Given the description of an element on the screen output the (x, y) to click on. 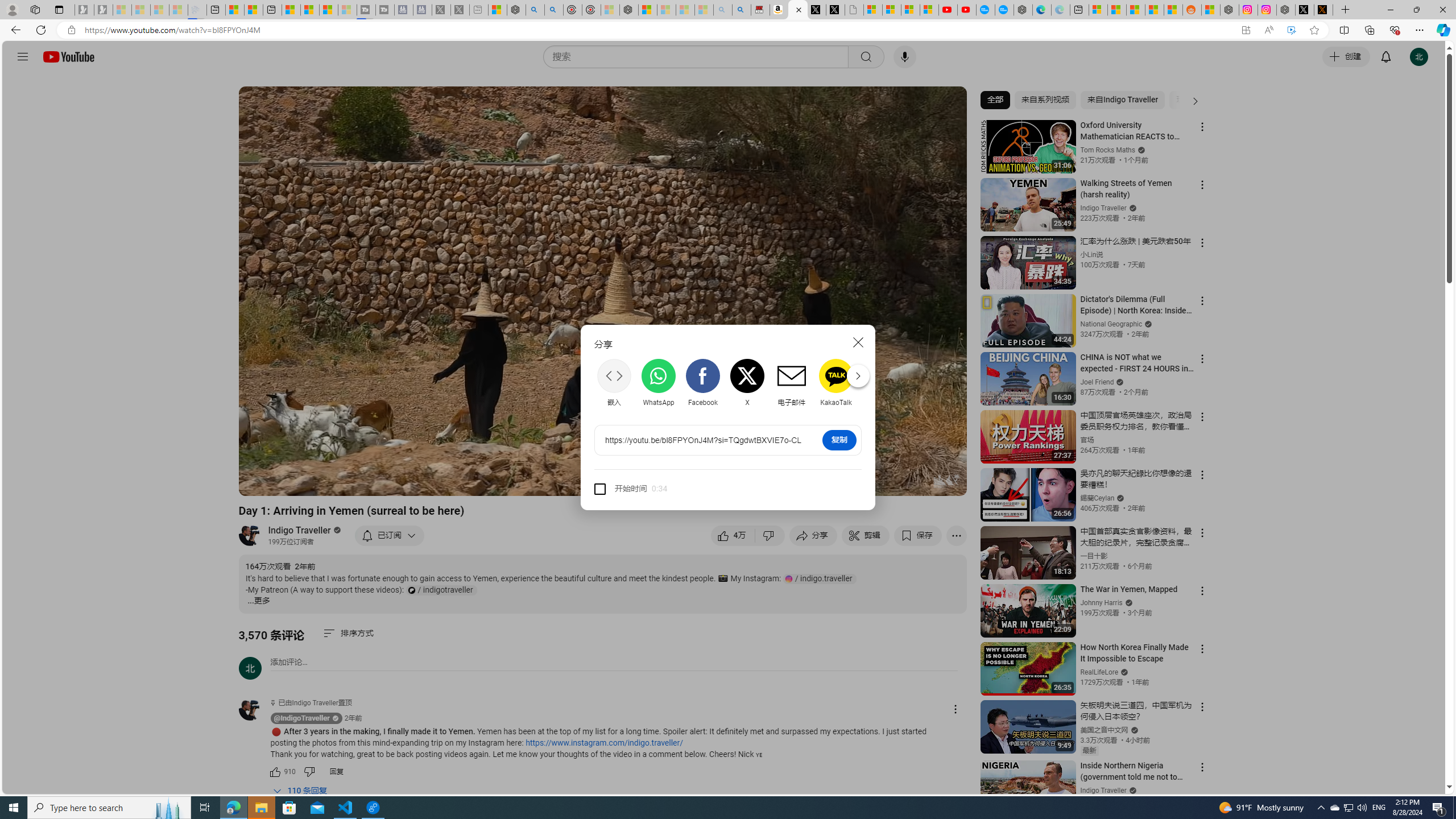
Patreon Channel Link: indigotraveller (441, 590)
Nordace (@NordaceOfficial) / X (1304, 9)
Shanghai, China hourly forecast | Microsoft Weather (1135, 9)
